Given the description of an element on the screen output the (x, y) to click on. 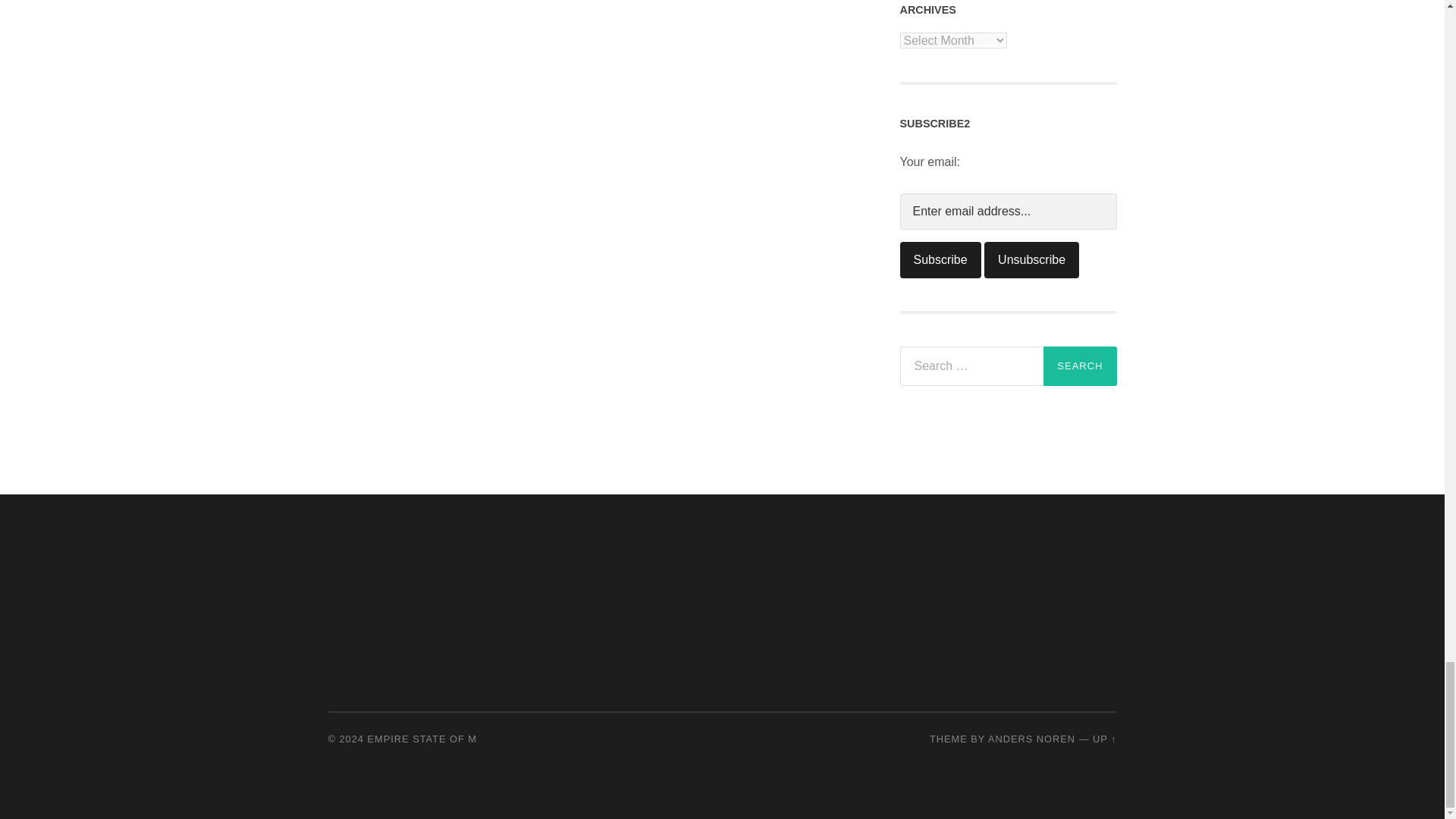
Search (1079, 365)
To the top (1104, 738)
Subscribe (939, 259)
Unsubscribe (1031, 259)
Search (1079, 365)
Enter email address... (1007, 211)
